Given the description of an element on the screen output the (x, y) to click on. 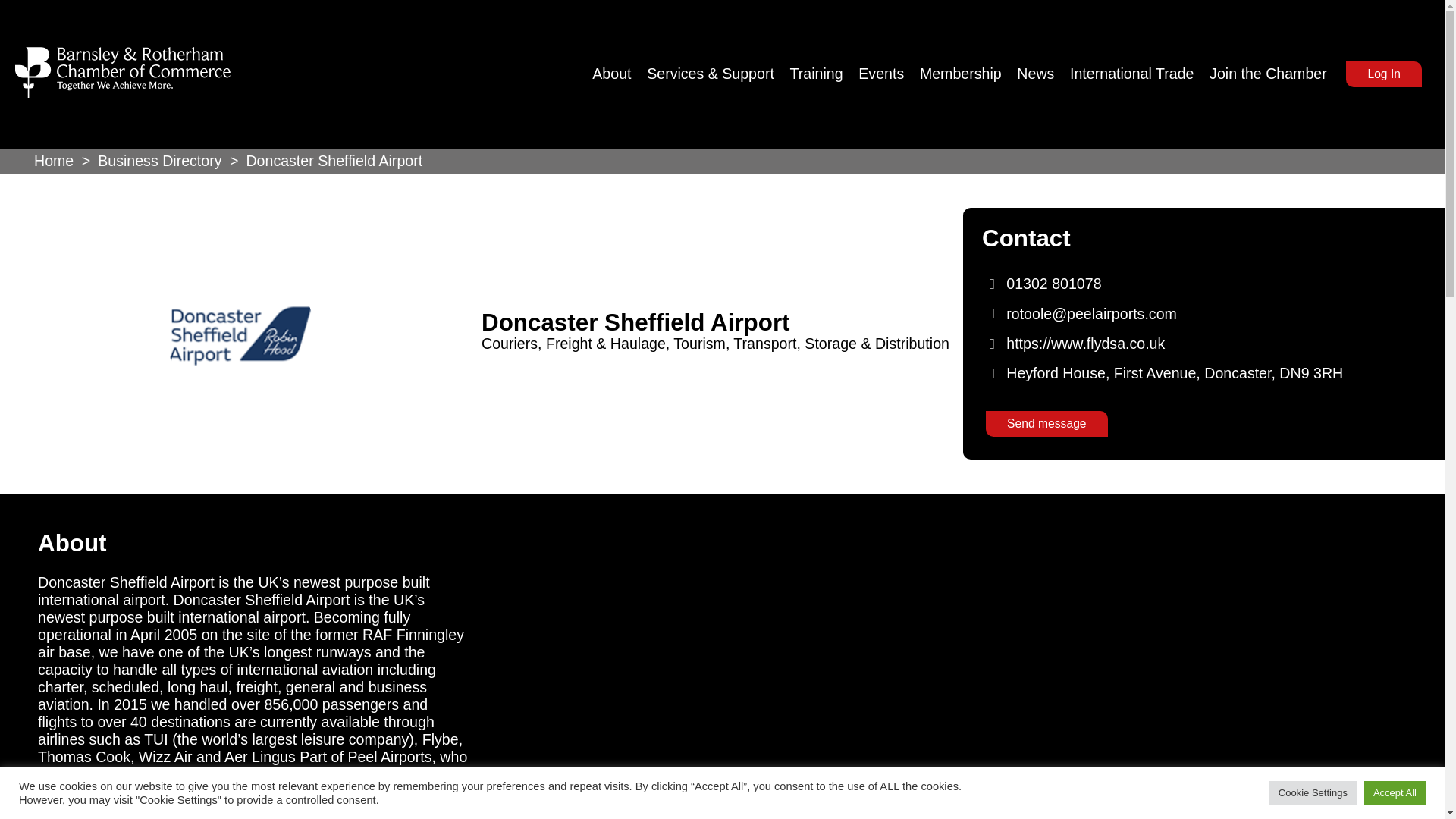
Membership (966, 73)
Training (823, 73)
Sign up (795, 558)
Events (887, 73)
About (617, 73)
